Given the description of an element on the screen output the (x, y) to click on. 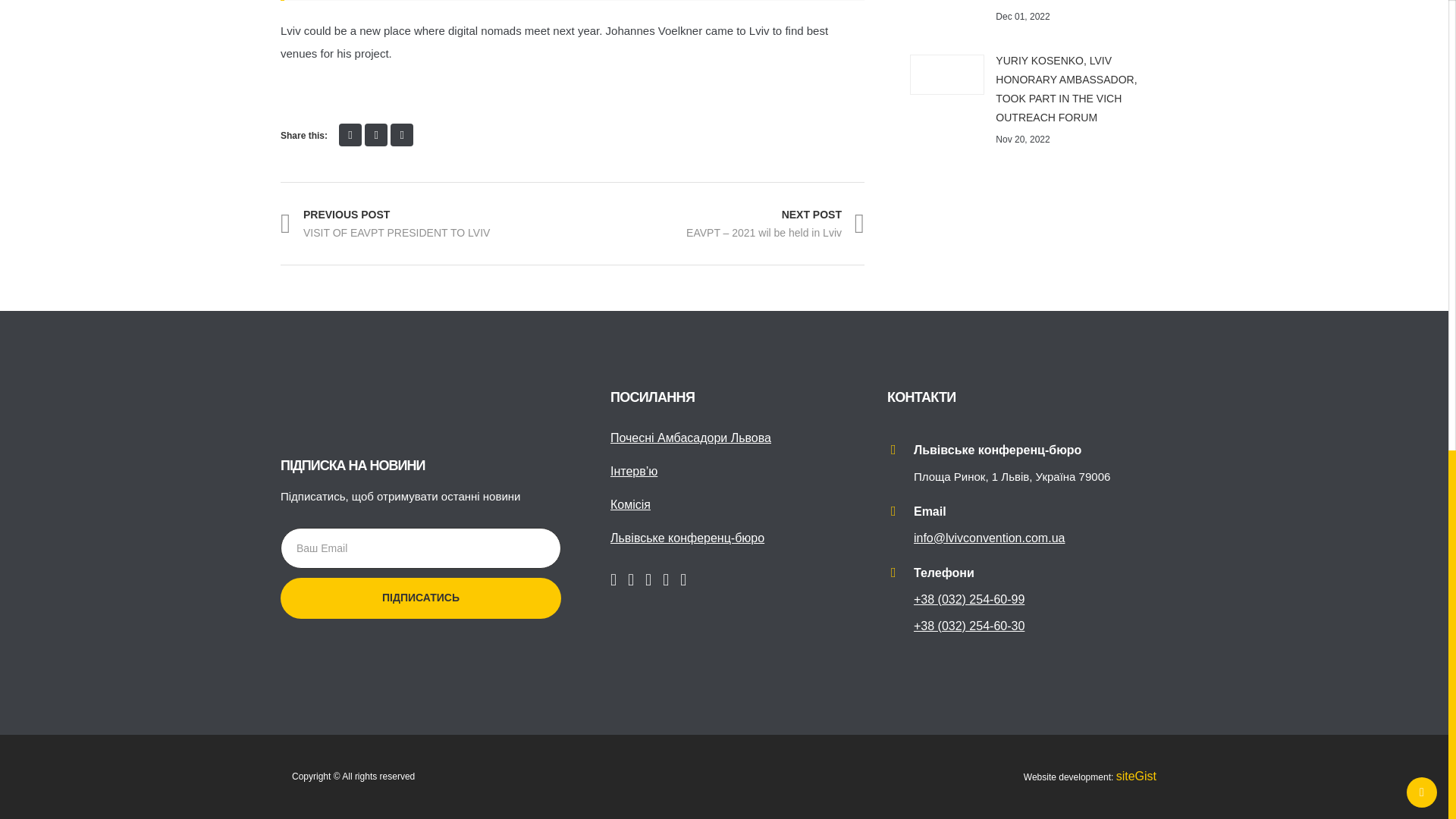
Share on facebook (350, 134)
Share on Twitter (376, 134)
Share on LinkedIn (401, 134)
